Given the description of an element on the screen output the (x, y) to click on. 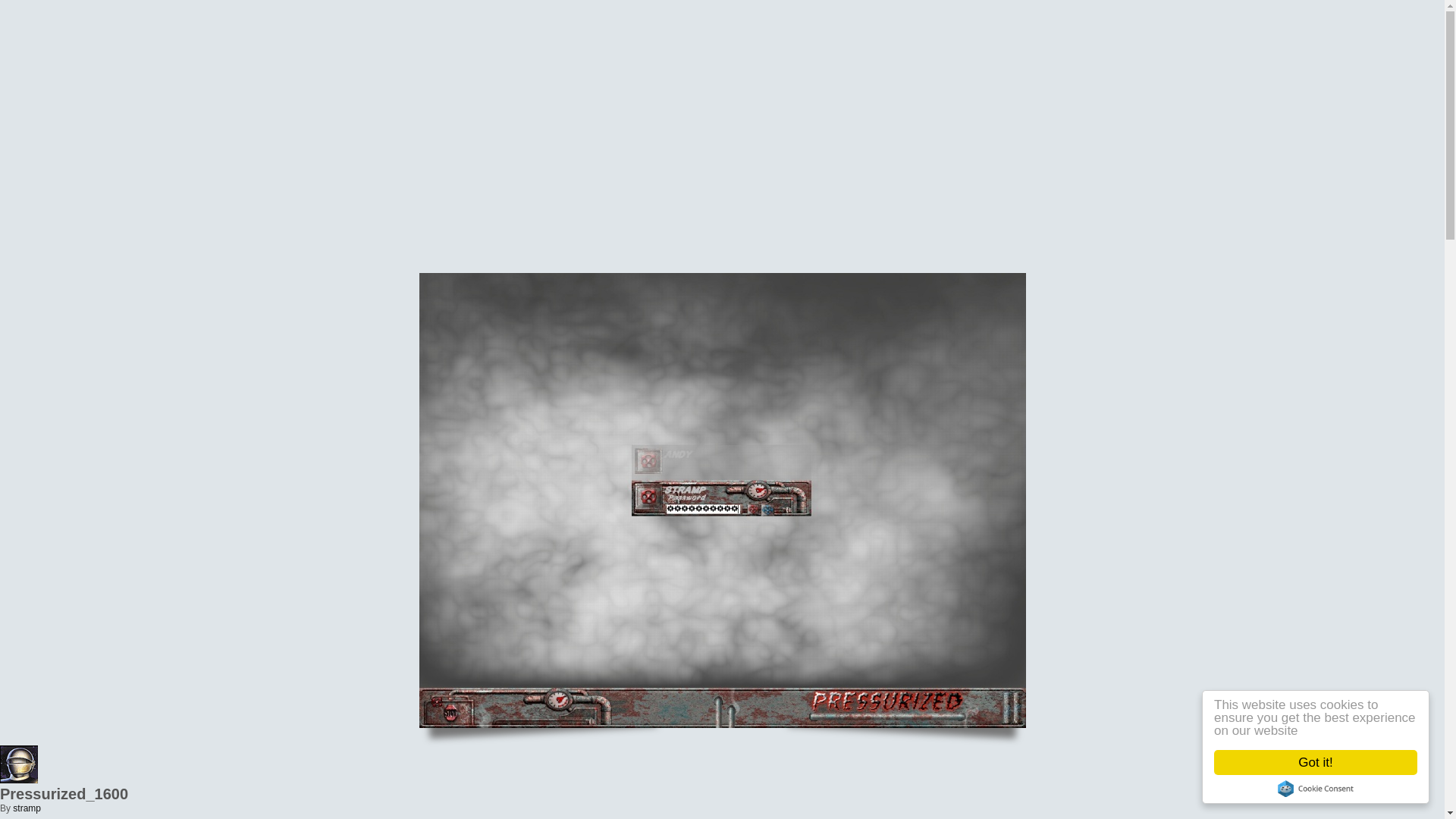
Profile of member stramp (26, 808)
Cookie Consent plugin for the EU cookie law (1328, 788)
Got it! (1329, 762)
stramp (26, 808)
